Given the description of an element on the screen output the (x, y) to click on. 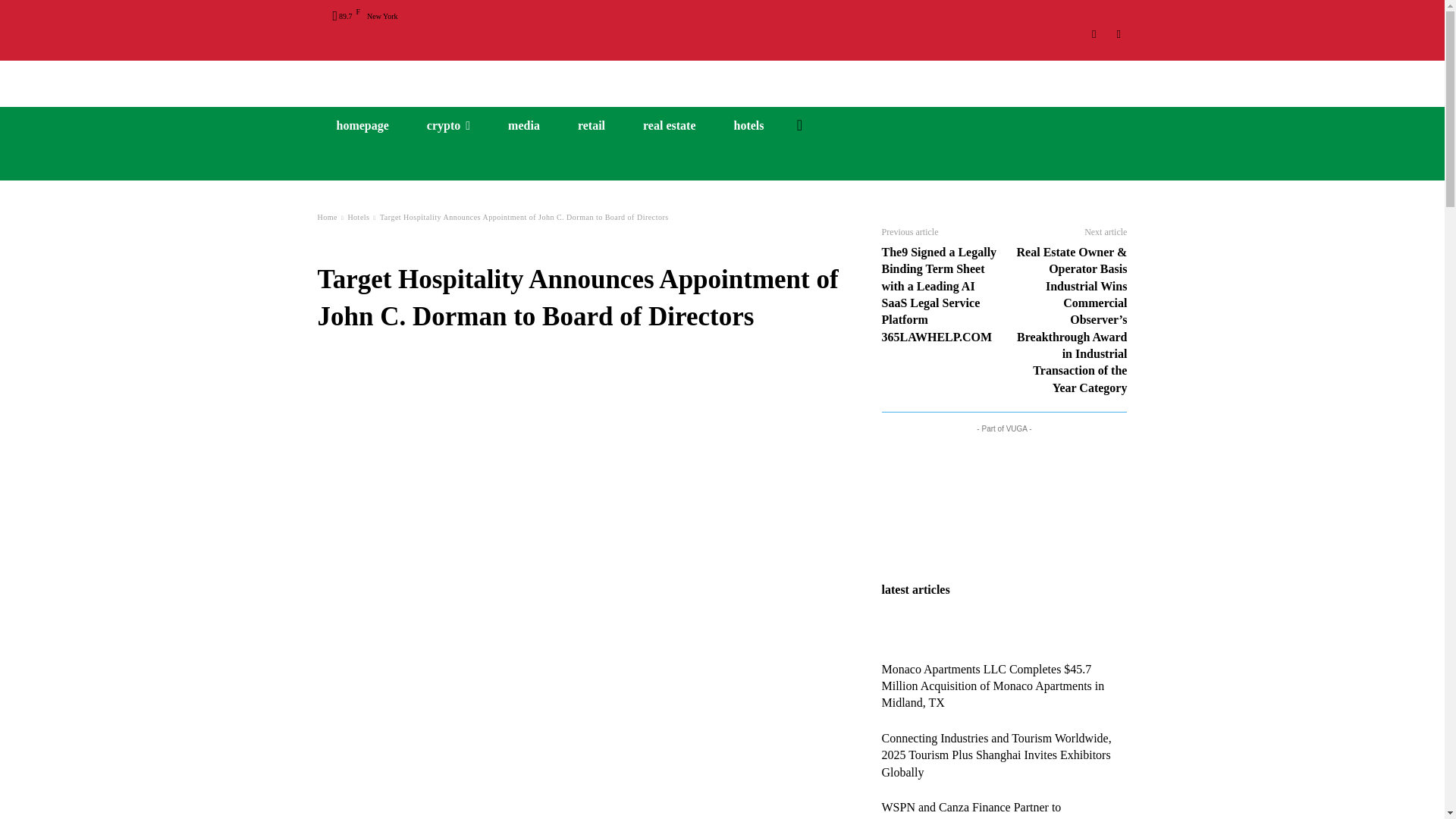
Delta Quattro (721, 77)
Facebook (1117, 34)
crypto (448, 125)
media (524, 125)
real estate (669, 125)
Delta Quattro (721, 77)
homepage (362, 125)
Instagram (1094, 34)
retail (591, 125)
hotels (748, 125)
